Given the description of an element on the screen output the (x, y) to click on. 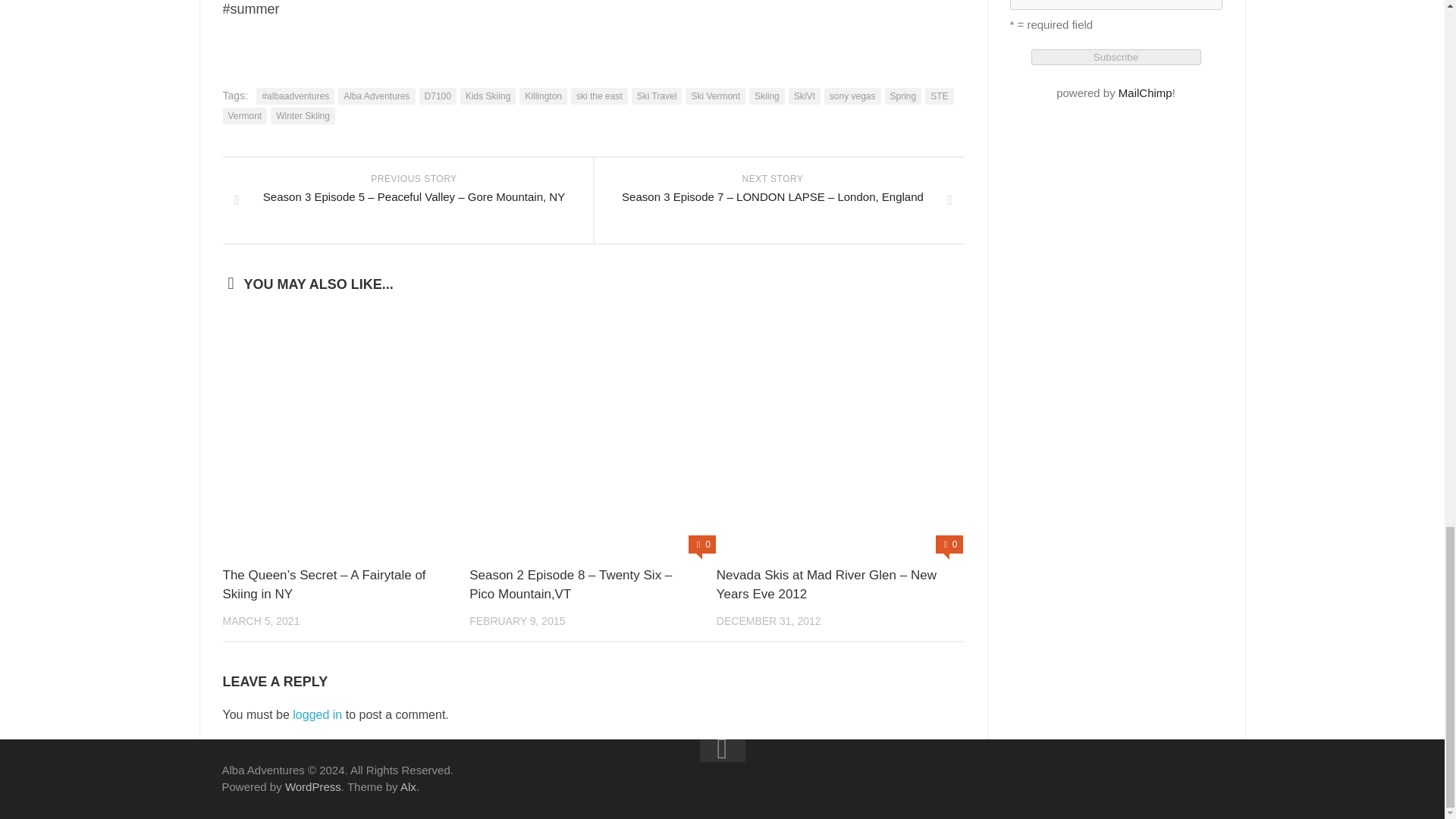
Subscribe (1115, 57)
